Given the description of an element on the screen output the (x, y) to click on. 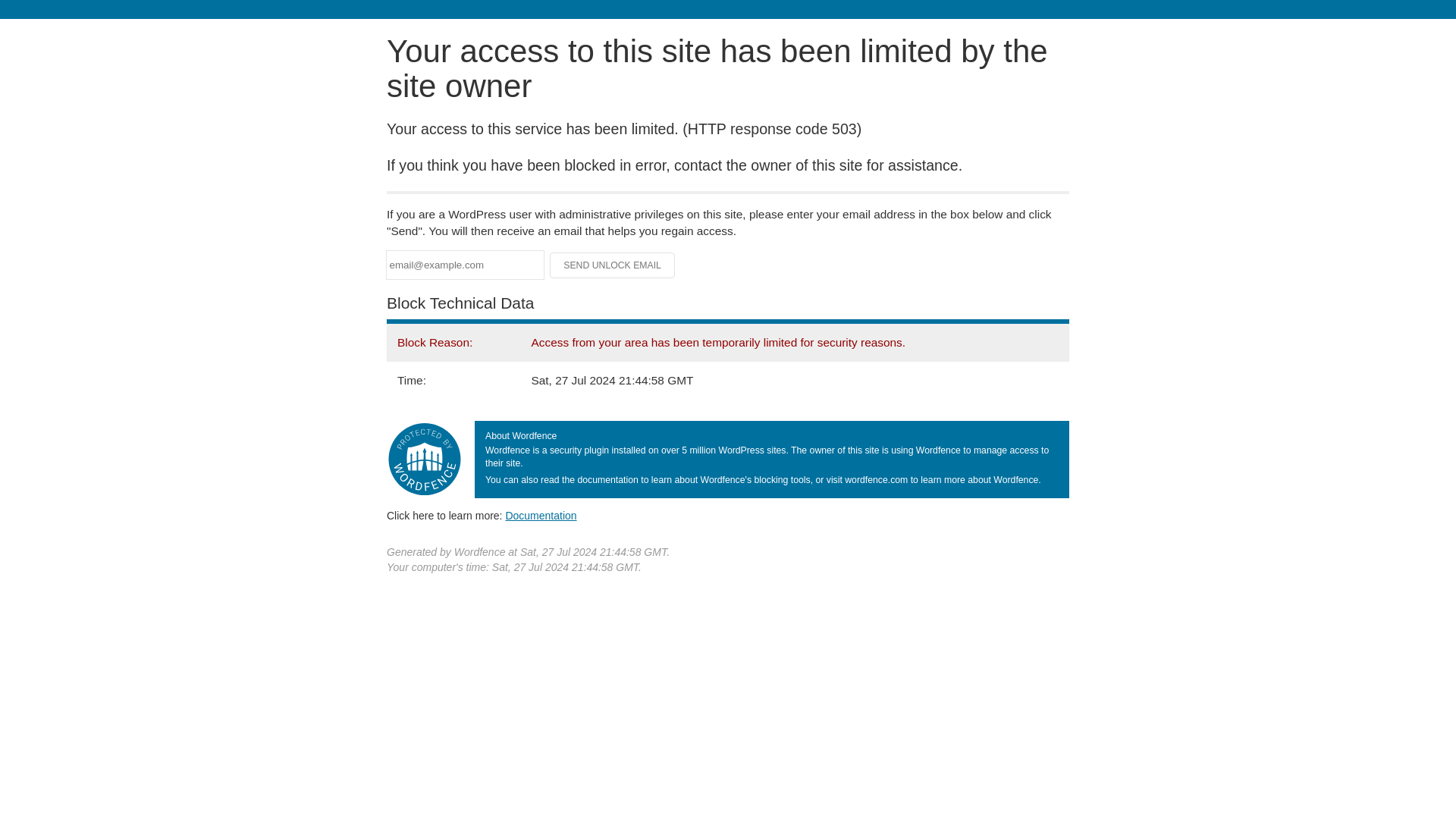
Documentation (540, 515)
Send Unlock Email (612, 265)
Send Unlock Email (612, 265)
